Given the description of an element on the screen output the (x, y) to click on. 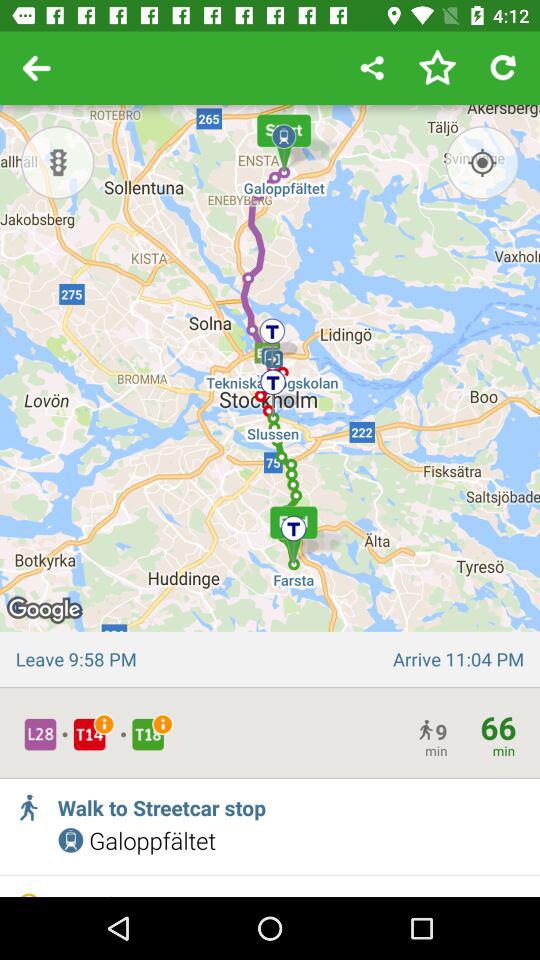
press to save search in favorites (437, 68)
